Given the description of an element on the screen output the (x, y) to click on. 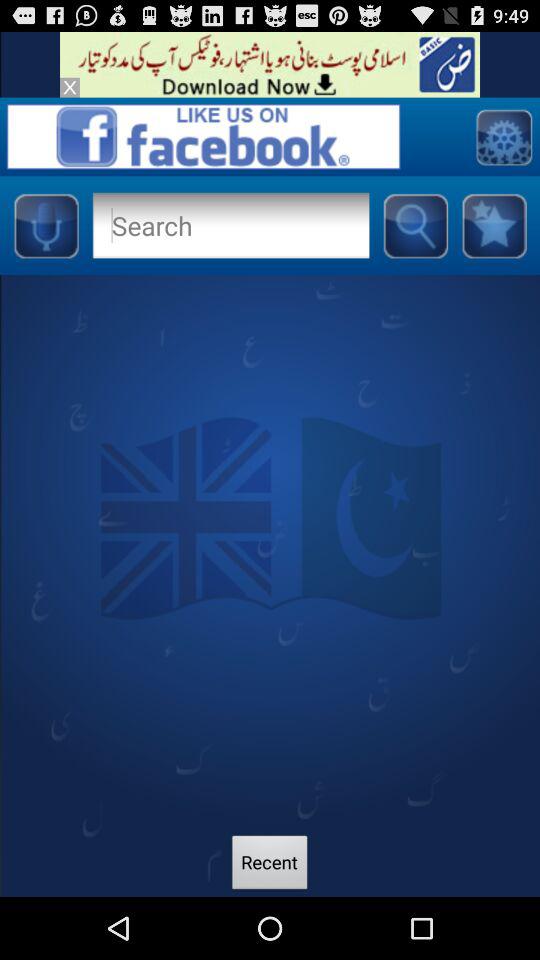
toggle microphone (45, 225)
